Given the description of an element on the screen output the (x, y) to click on. 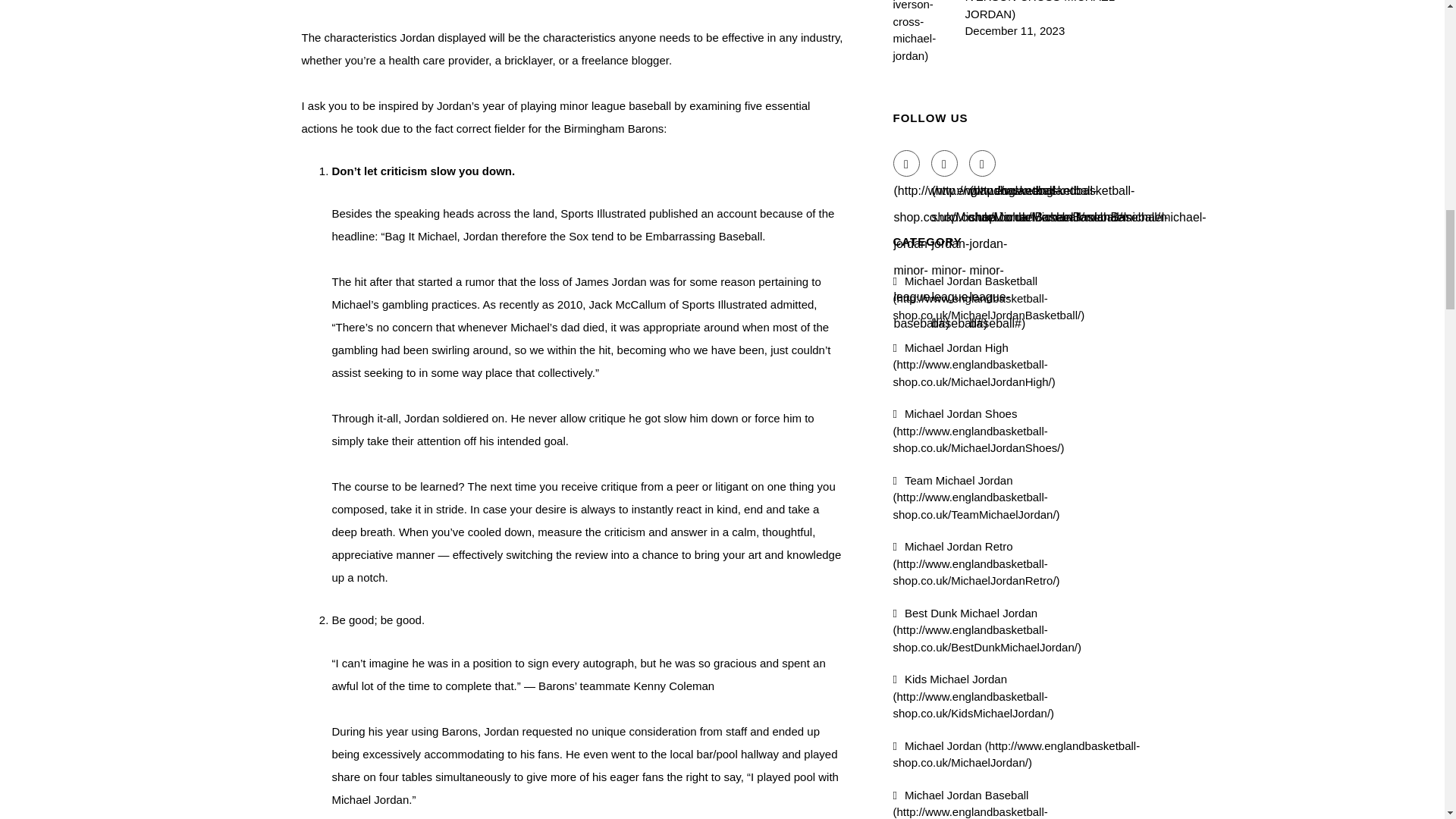
Twitter (944, 162)
Google Plus (982, 162)
View all posts filed under Michael Jordan Retro (976, 563)
View all posts filed under Michael Jordan Shoes (978, 430)
Facebook (906, 162)
View all posts filed under Michael Jordan Basketball (988, 297)
View all posts filed under Team Michael Jordan (976, 496)
View all posts filed under Best Dunk Michael Jordan (987, 629)
View all posts filed under Michael Jordan High (974, 364)
